Given the description of an element on the screen output the (x, y) to click on. 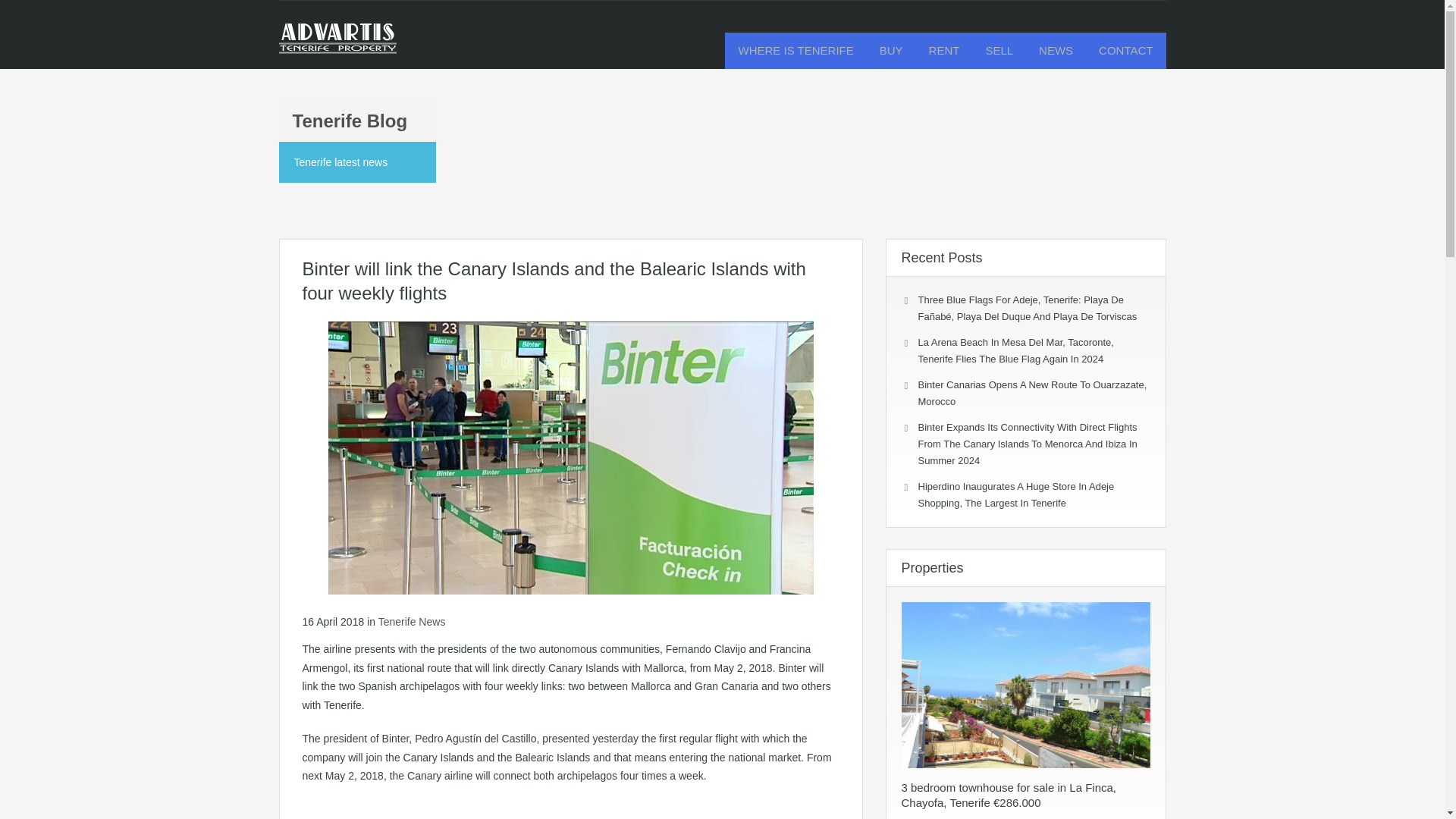
Advartis Tenerife Property (337, 45)
Binter Canarias Opens A New Route To Ouarzazate, Morocco (1032, 393)
RENT (943, 50)
NEWS (1056, 50)
Tenerife News (411, 621)
CONTACT (1126, 50)
